Given the description of an element on the screen output the (x, y) to click on. 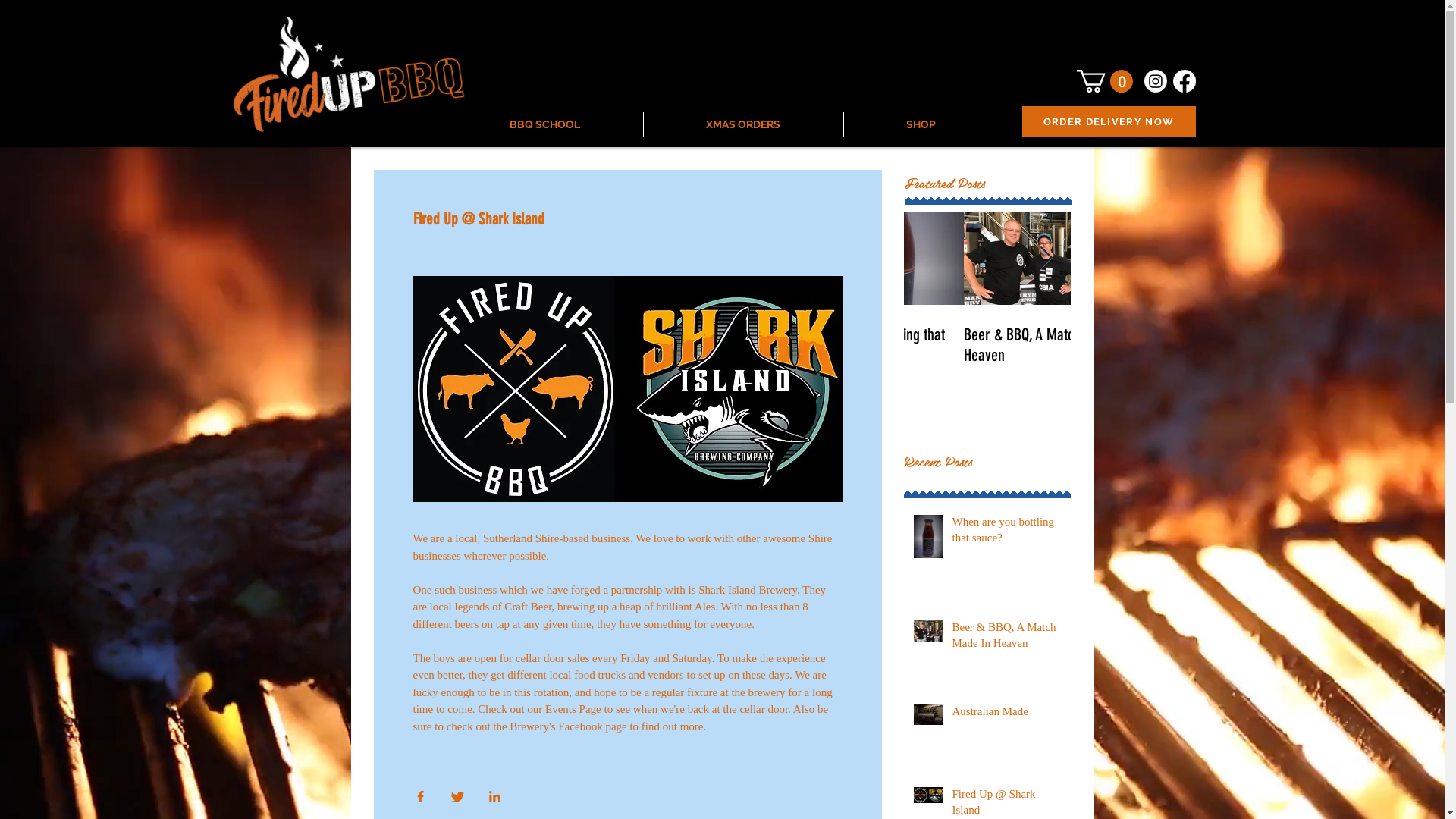
XMAS ORDERS Element type: text (742, 124)
SHOP Element type: text (920, 124)
0 Element type: text (1104, 80)
BBQ SCHOOL Element type: text (545, 124)
Beer & BBQ, A Match Made In Heaven Element type: text (1006, 638)
Facebook page Element type: text (592, 726)
Events Page Element type: text (573, 708)
Australian Made Element type: text (1006, 714)
When are you bottling that sauce? Element type: text (986, 344)
Shark Island Brewery Element type: text (747, 589)
ORDER DELIVERY NOW Element type: text (1108, 121)
Beer & BBQ, A Match Made In Heaven Element type: text (1153, 344)
When are you bottling that sauce? Element type: text (1006, 533)
